Given the description of an element on the screen output the (x, y) to click on. 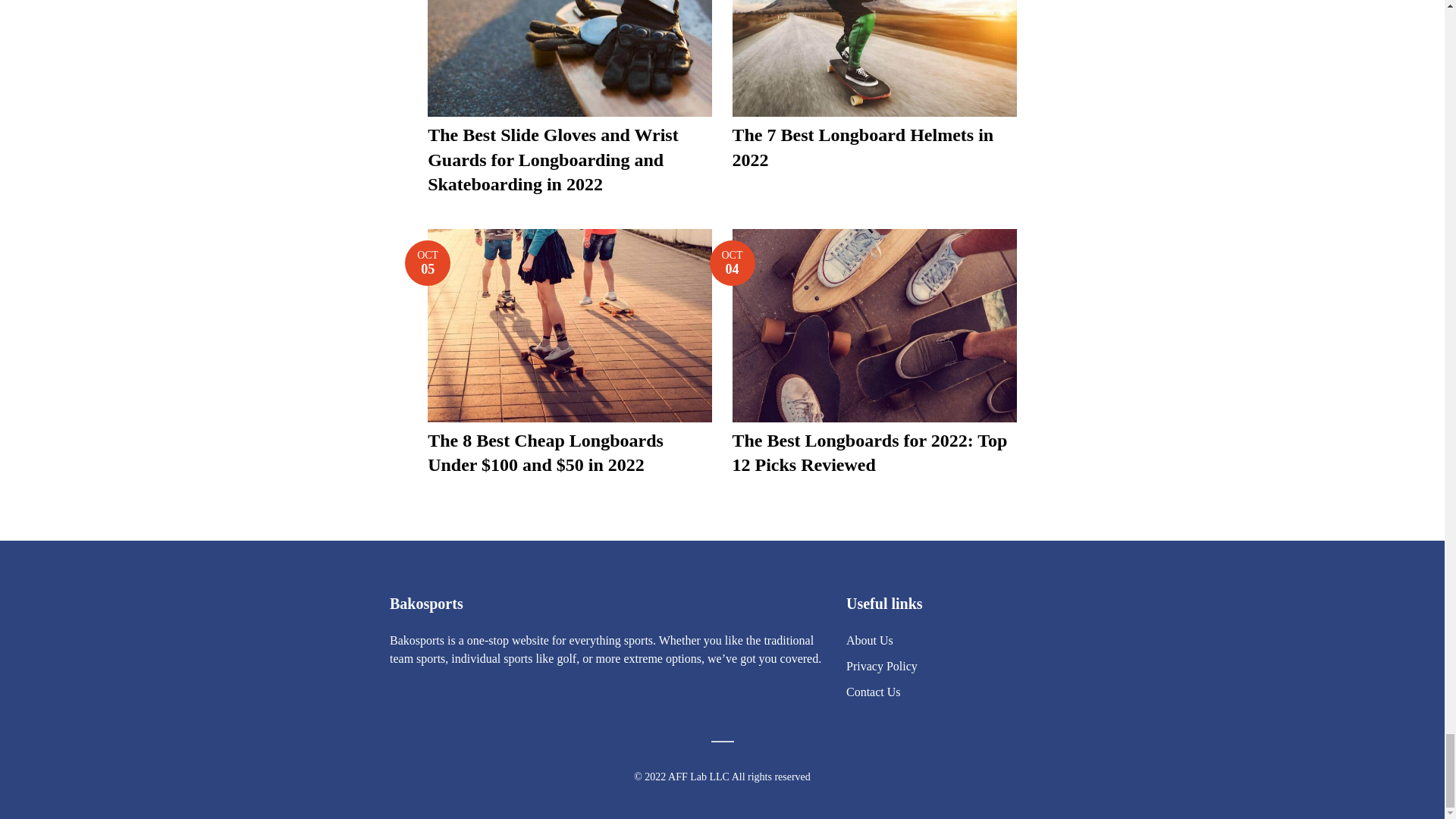
The 7 Best Longboard Helmets in 2022 (863, 146)
Privacy Policy (881, 666)
About Us (732, 262)
Contact Us (869, 640)
The Best Longboards for 2022: Top 12 Picks Reviewed (426, 262)
